Given the description of an element on the screen output the (x, y) to click on. 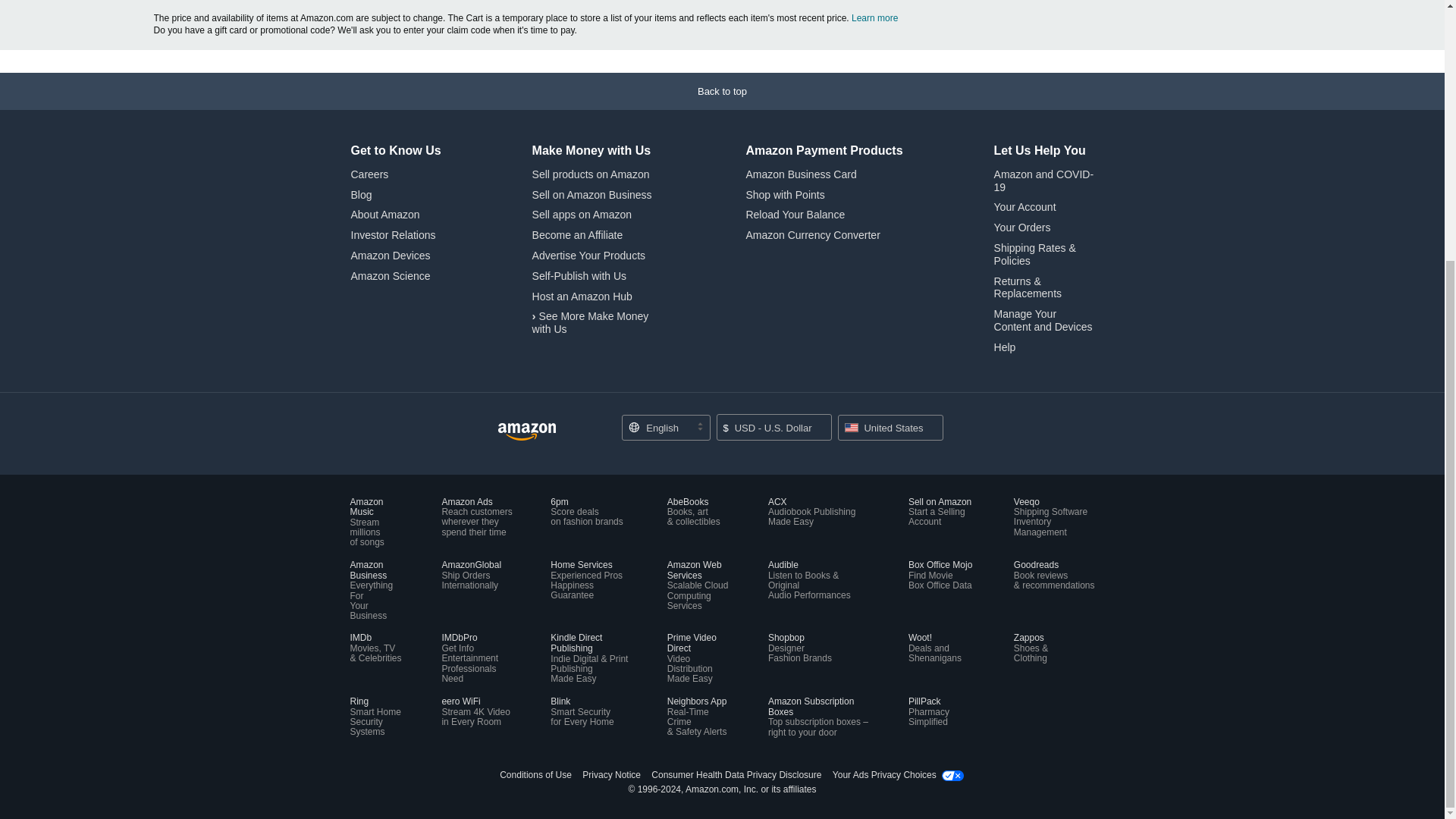
Sell products on Amazon (590, 174)
Investor Relations (392, 234)
About Amazon (384, 214)
Blog (360, 194)
Amazon Devices (389, 255)
Sell apps on Amazon (581, 214)
Advertise Your Products (588, 255)
Become an Affiliate (577, 234)
Careers (369, 174)
Learn more (874, 18)
